Given the description of an element on the screen output the (x, y) to click on. 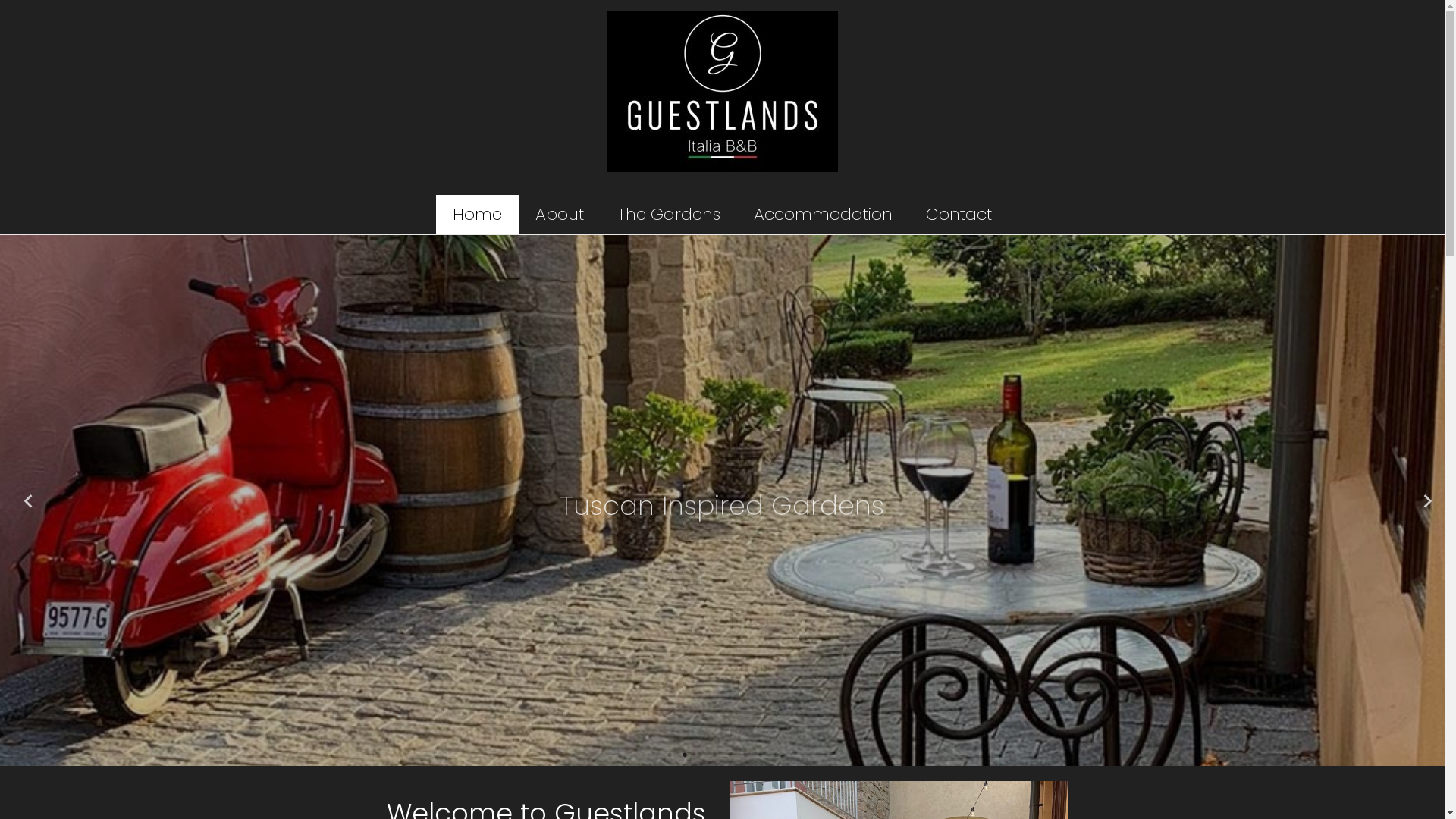
About Element type: text (559, 214)
The Gardens Element type: text (668, 214)
5 Element type: text (729, 754)
6 Element type: text (744, 754)
Previous Element type: text (22, 499)
8 Element type: text (774, 754)
Contact Element type: text (958, 214)
7 Element type: text (759, 754)
Accommodation Element type: text (823, 214)
3 Element type: text (698, 754)
Next Element type: text (1421, 499)
4 Element type: text (713, 754)
2 Element type: text (683, 754)
Home Element type: text (477, 214)
1 Element type: text (668, 754)
